Given the description of an element on the screen output the (x, y) to click on. 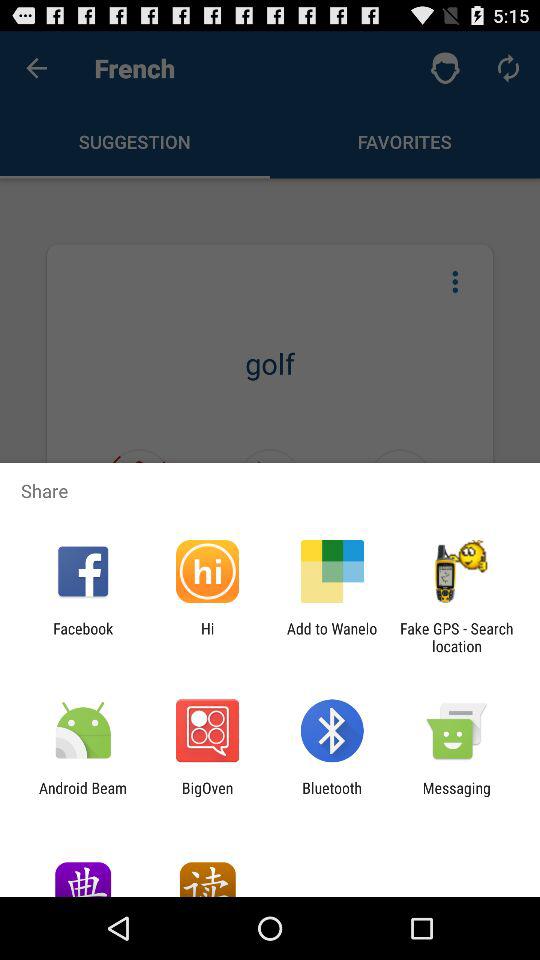
tap icon to the right of bigoven app (331, 796)
